Given the description of an element on the screen output the (x, y) to click on. 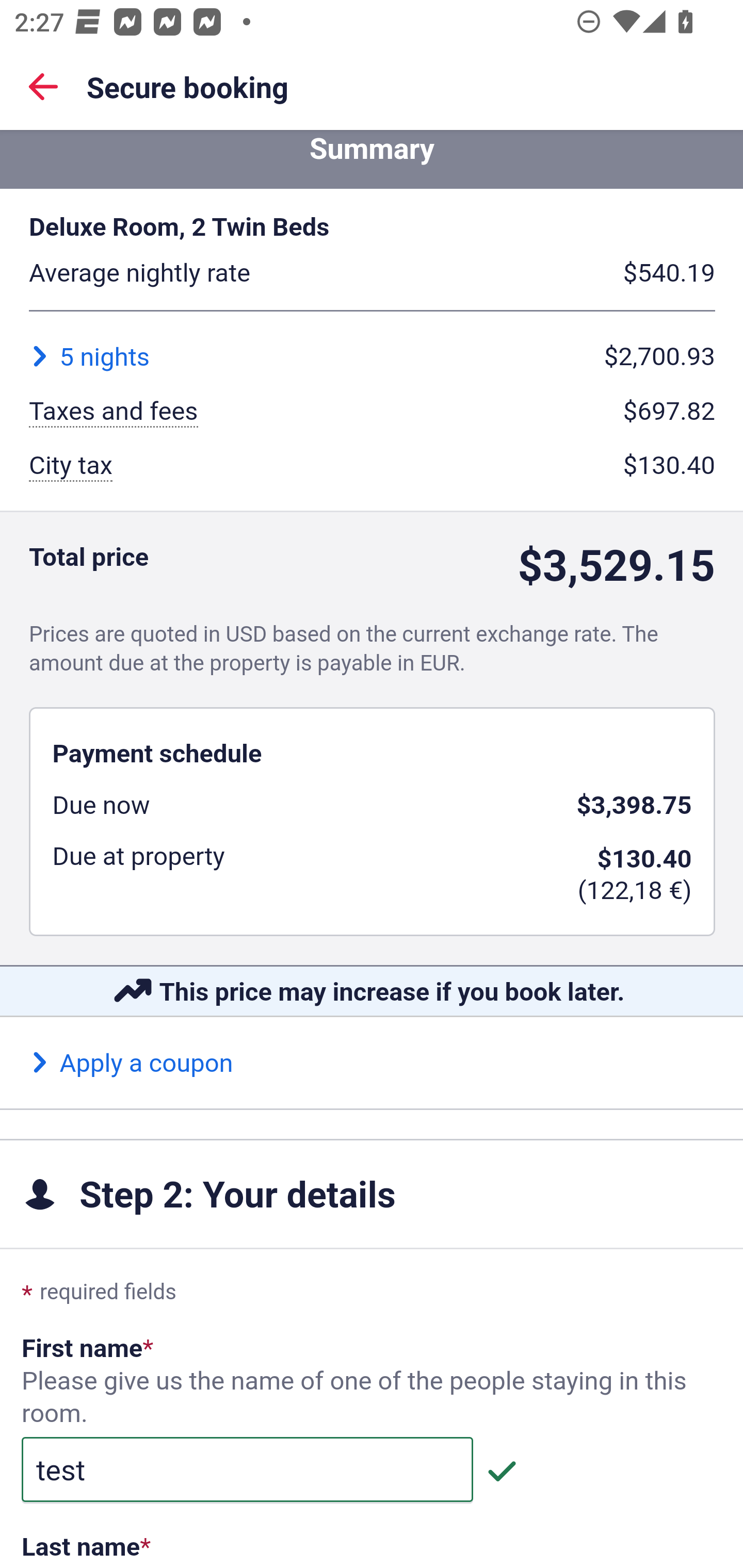
Back (43, 86)
5 nights (88, 357)
Taxes and fees (113, 413)
City tax (70, 468)
Apply a coupon (131, 1063)
test (247, 1469)
